Given the description of an element on the screen output the (x, y) to click on. 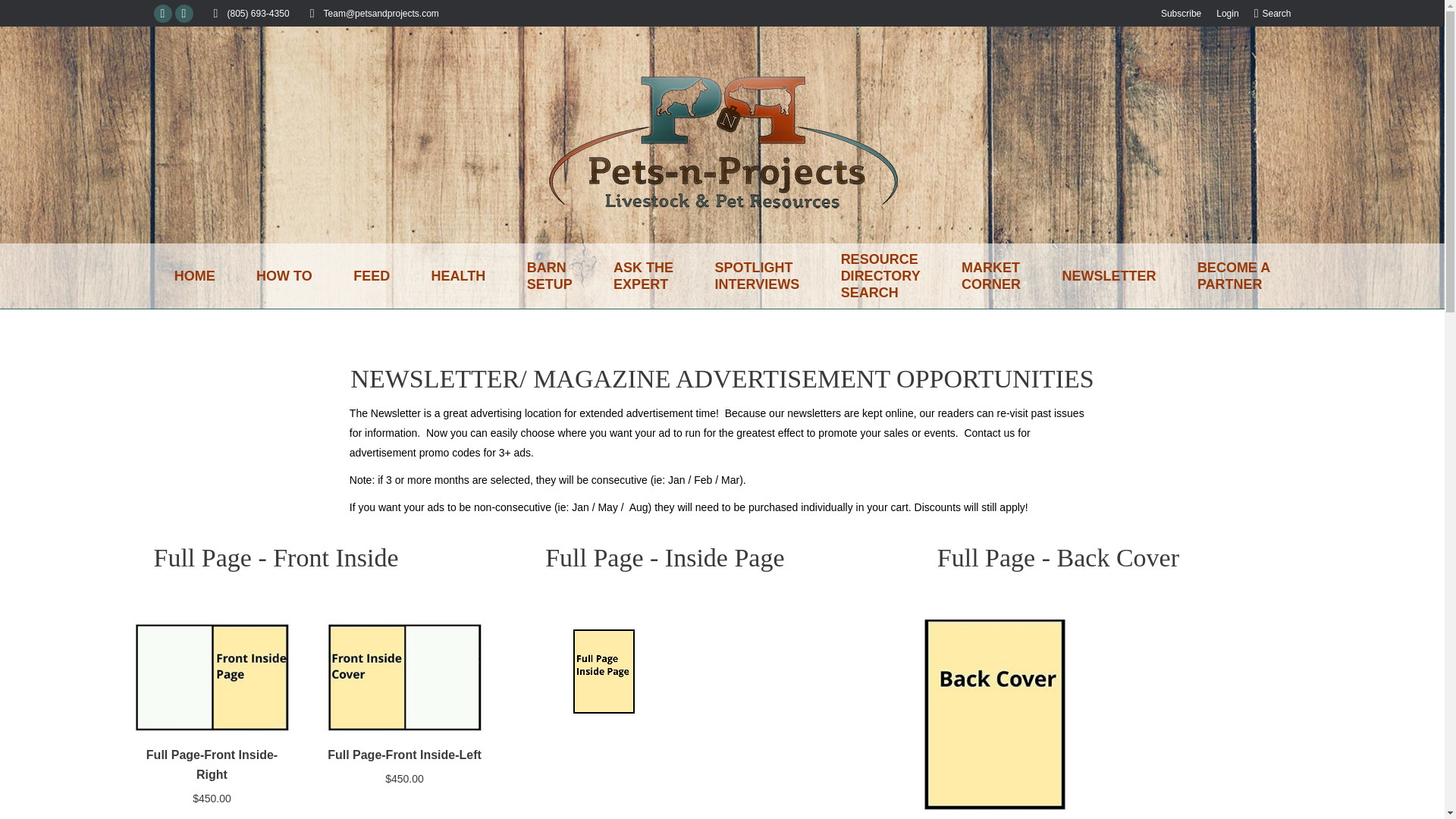
Facebook page opens in new window (879, 275)
FEED (990, 275)
Go! (643, 275)
Login (161, 13)
Facebook page opens in new window (371, 275)
Full Page-Front Inside-Right (24, 16)
Subscribe (1227, 12)
HOW TO (756, 275)
Search (161, 13)
NEWSLETTER (212, 764)
Instagram page opens in new window (1180, 12)
